Given the description of an element on the screen output the (x, y) to click on. 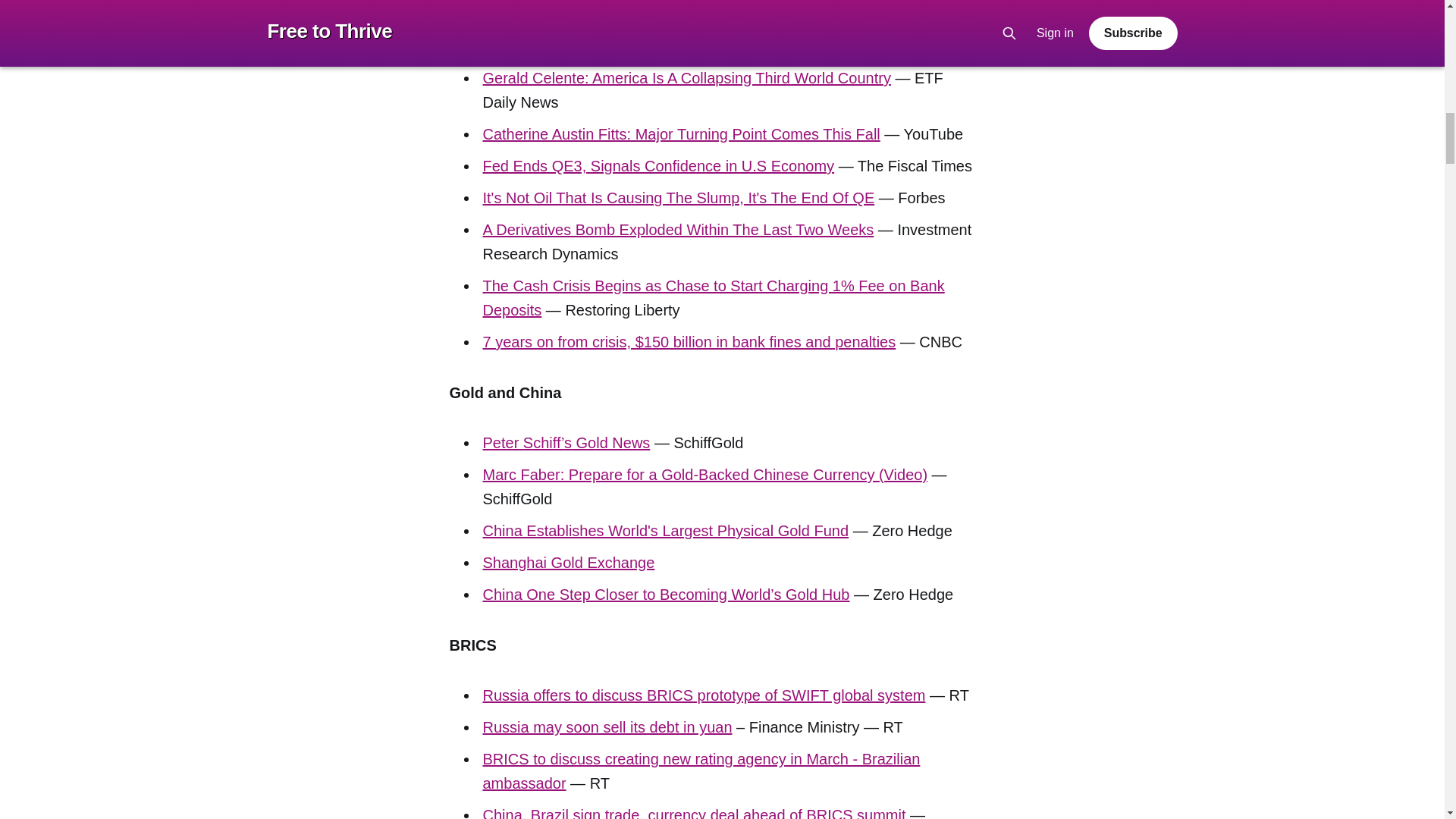
Fed Ends QE3, Signals Confidence in U.S Economy (657, 166)
Gerald Celente: America Is A Collapsing Third World Country (685, 77)
China Establishes World's Largest Physical Gold Fund (664, 530)
Catherine Austin Fitts: Major Turning Point Comes This Fall (680, 134)
A Derivatives Bomb Exploded Within The Last Two Weeks (677, 229)
It's Not Oil That Is Causing The Slump, It's The End Of QE (678, 197)
Is The Value of Your Money About to Change? (637, 45)
